Given the description of an element on the screen output the (x, y) to click on. 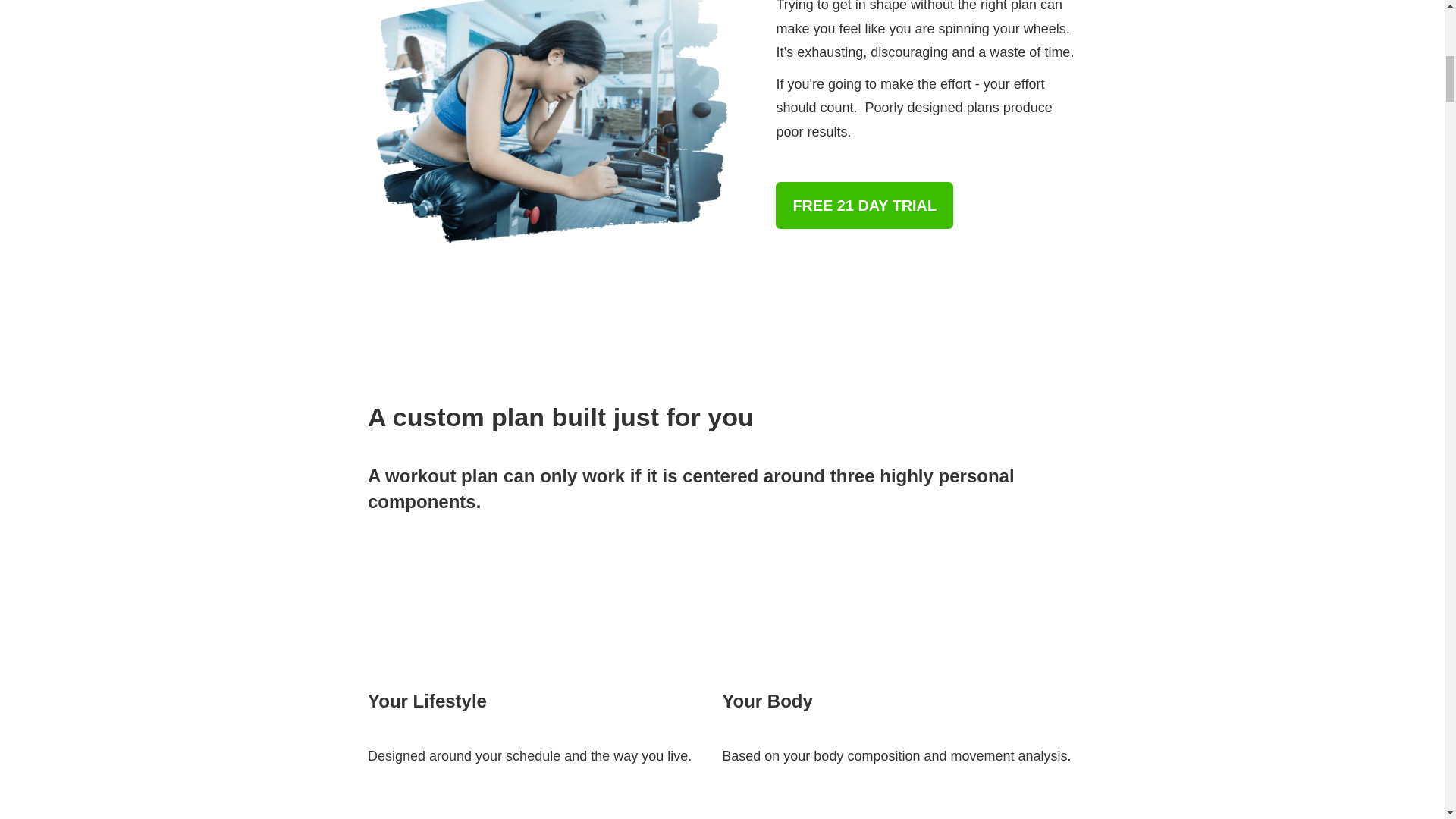
Lifestyle (424, 601)
Goal (424, 812)
FREE 21 DAY TRIAL (864, 205)
Body (778, 601)
Awful (556, 125)
